Given the description of an element on the screen output the (x, y) to click on. 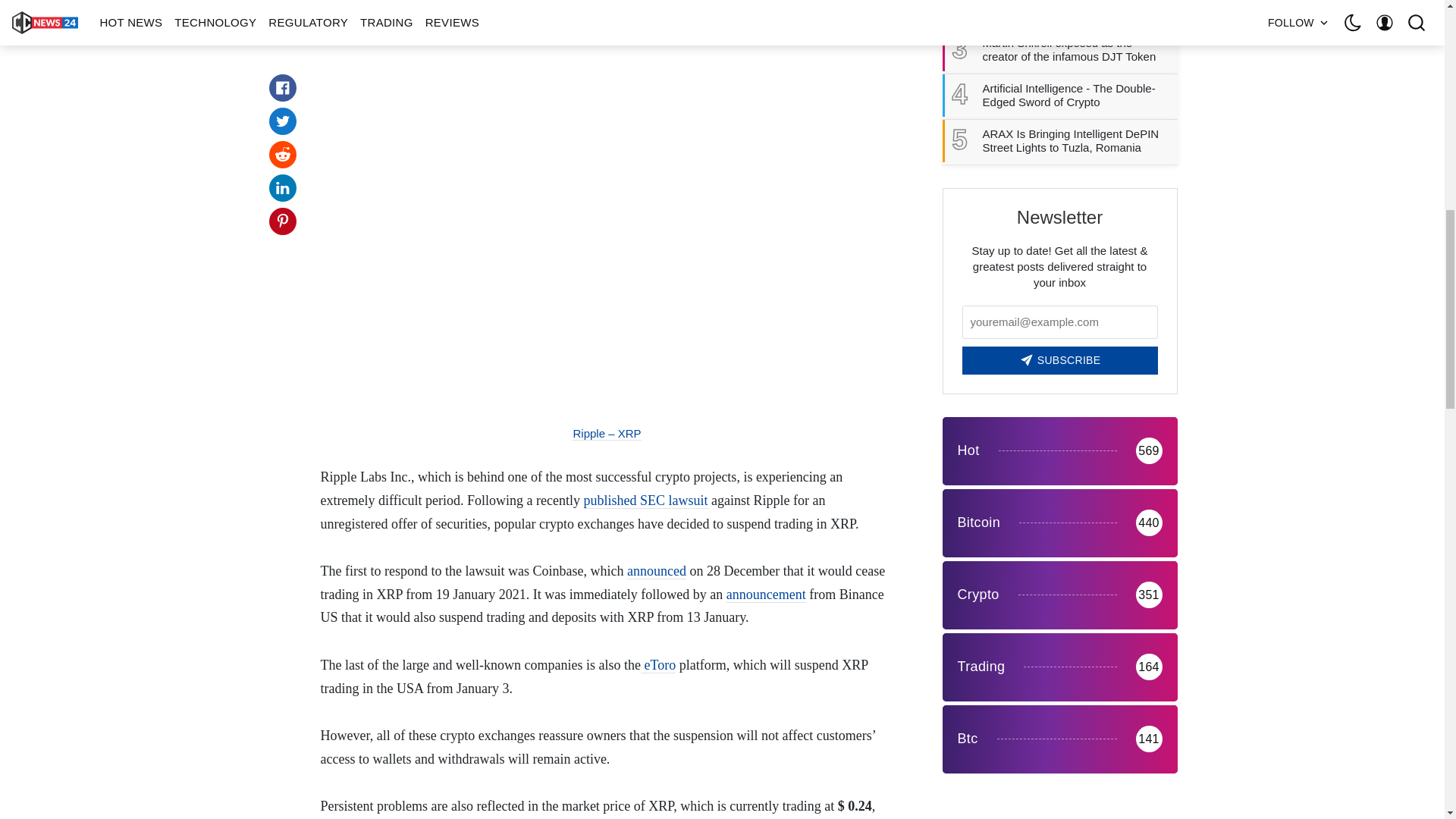
eToro (657, 665)
announced (656, 571)
published SEC lawsuit (645, 500)
announcement (766, 594)
